Given the description of an element on the screen output the (x, y) to click on. 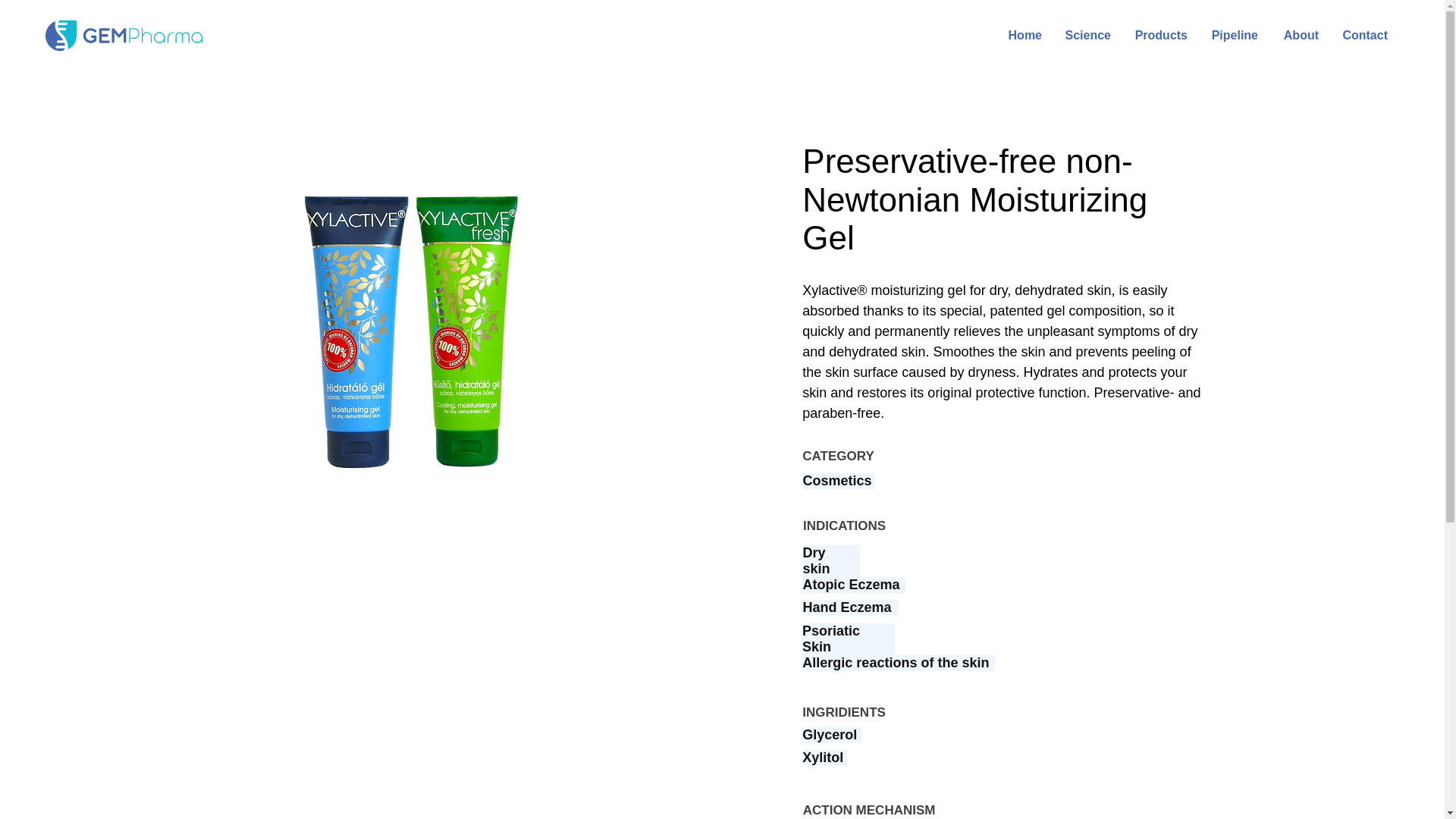
Pipeline (1233, 35)
Science (1087, 35)
About (1299, 35)
Products (1160, 35)
Contact (1364, 35)
Home (1023, 35)
